Given the description of an element on the screen output the (x, y) to click on. 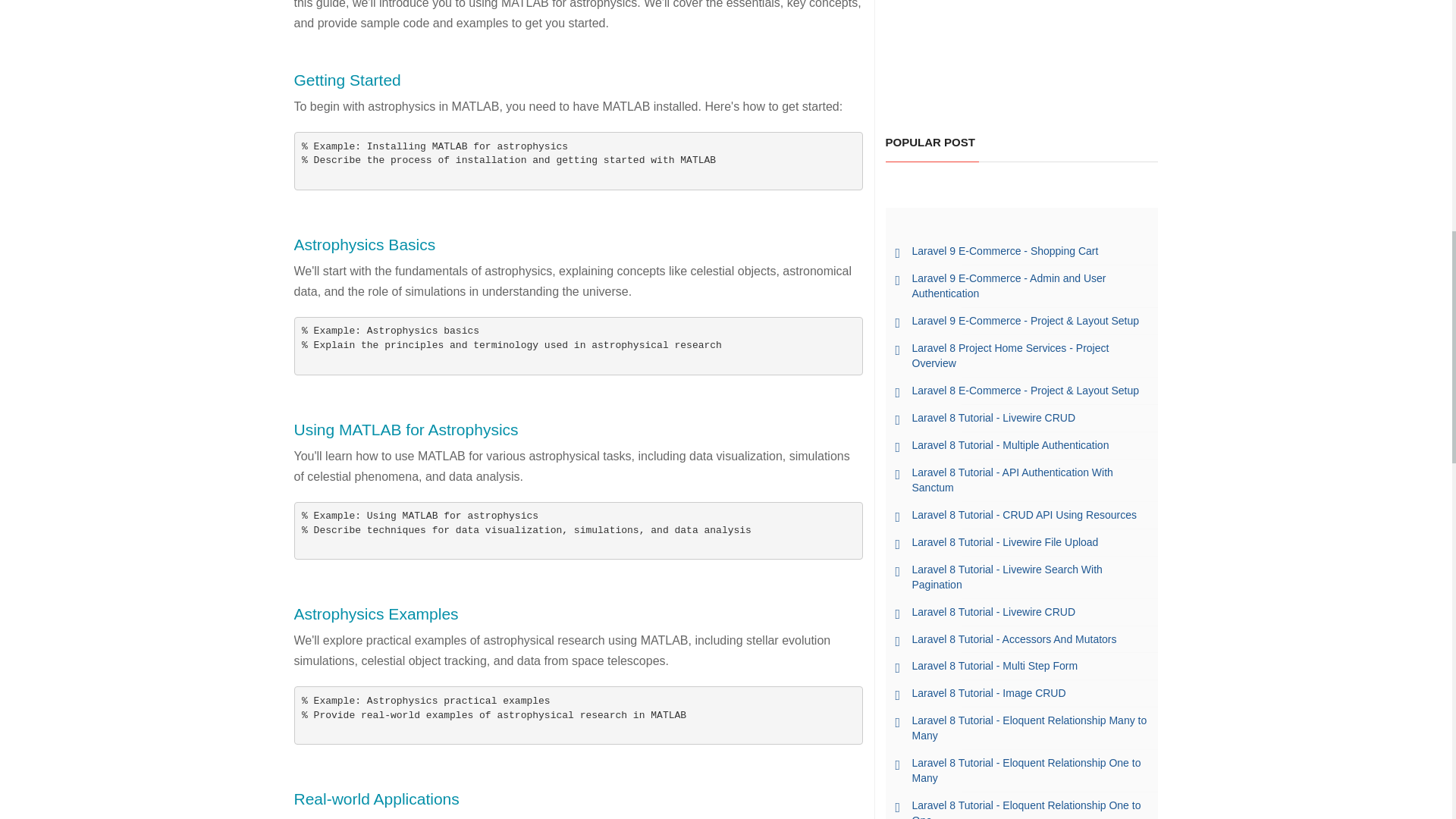
Advertisement (1021, 53)
